Given the description of an element on the screen output the (x, y) to click on. 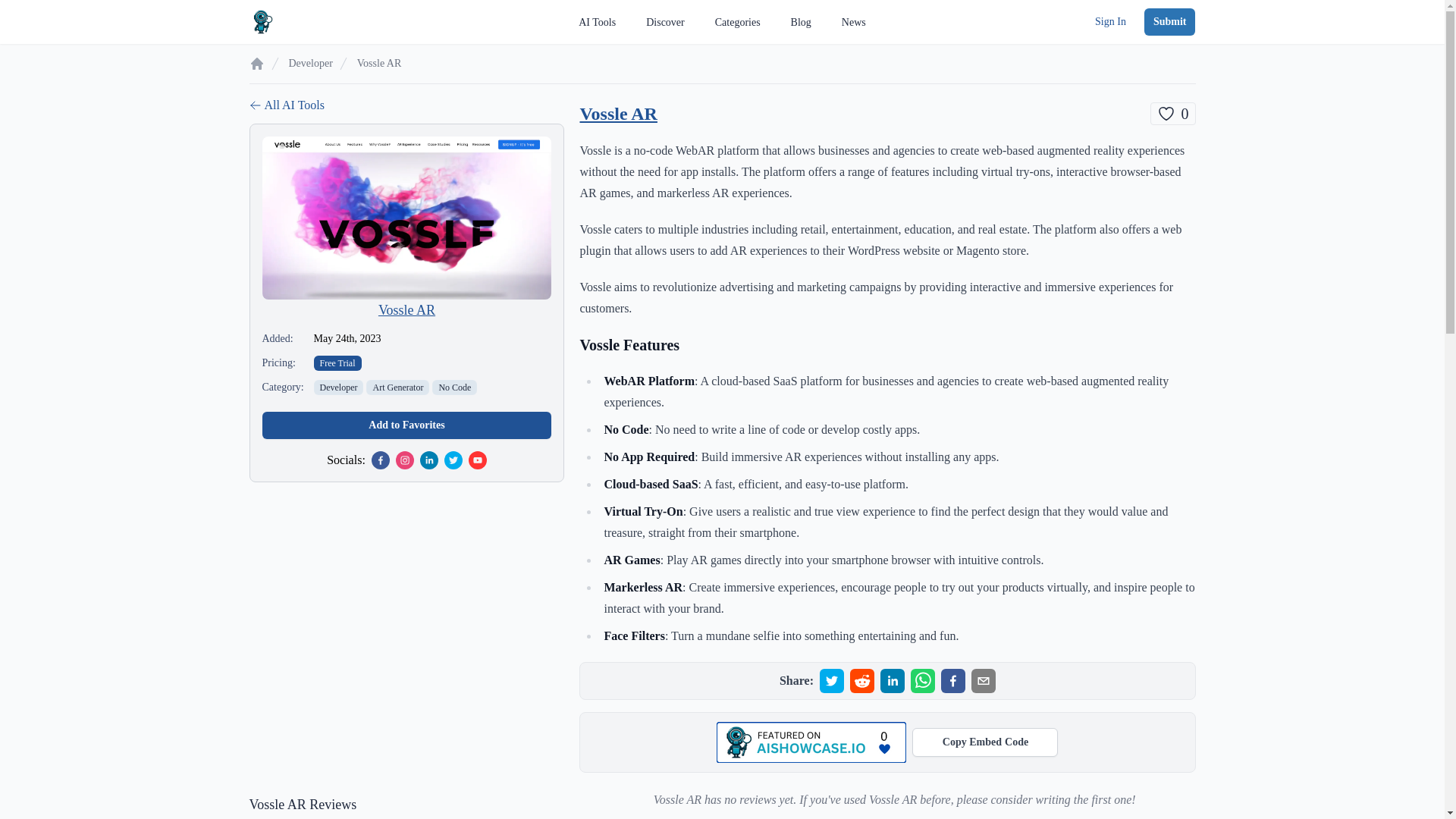
Add to Favorites (406, 424)
AI Tools (596, 21)
Home (255, 63)
Categories (736, 21)
Developer (309, 63)
All AI Tools (406, 105)
Check out Vossle AR on AI Showcase! (985, 742)
0 (952, 680)
Developer (1172, 113)
No Code (339, 387)
Vossle AR (454, 387)
News (406, 309)
Submit (853, 21)
Art Generator (1169, 22)
